Given the description of an element on the screen output the (x, y) to click on. 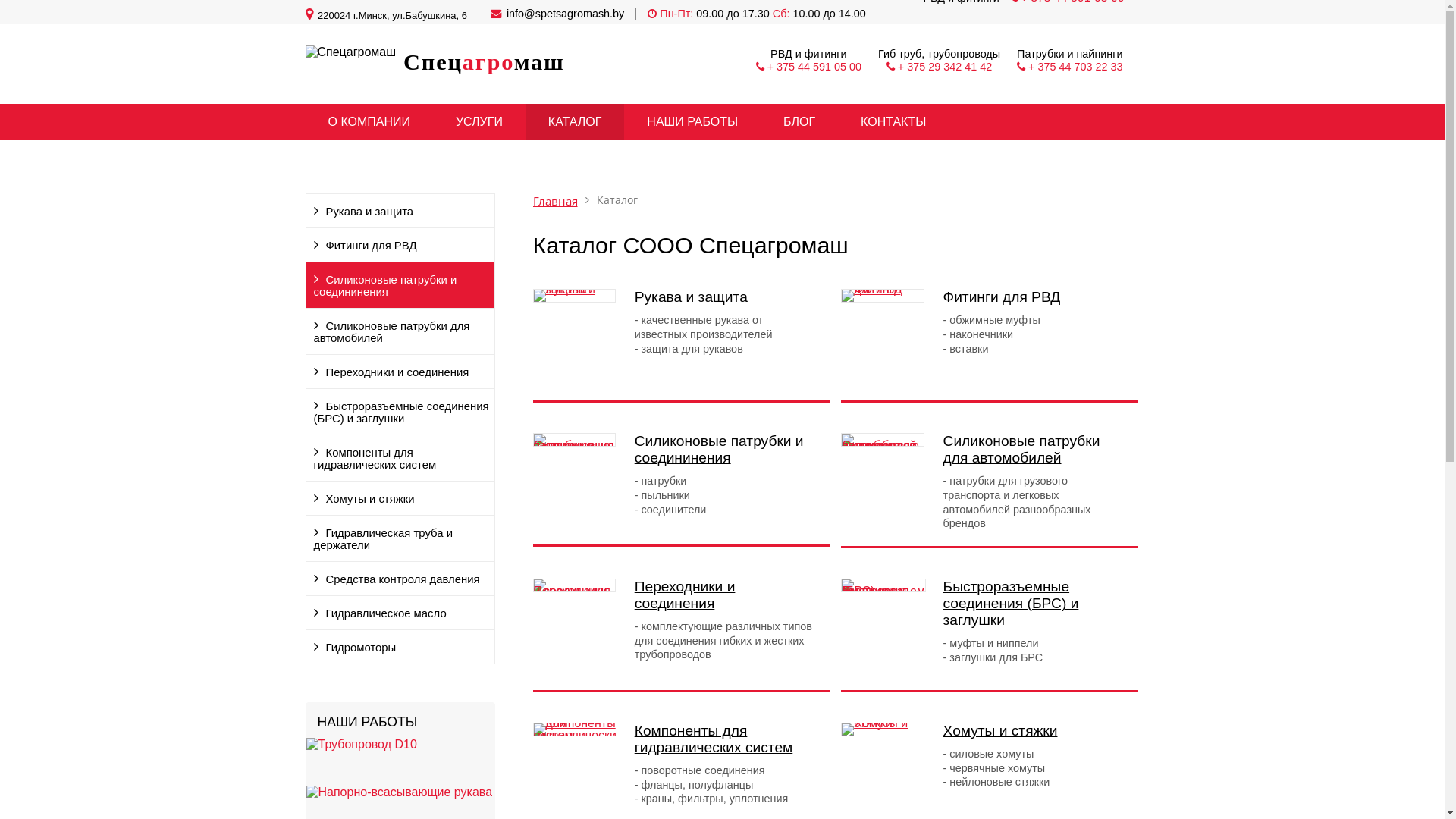
info@spetsagromash.by Element type: text (565, 13)
+ 375 44 703 22 33 Element type: text (1075, 66)
+ 375 44 591 05 00 Element type: text (814, 66)
+ 375 29 342 41 42 Element type: text (944, 66)
